Given the description of an element on the screen output the (x, y) to click on. 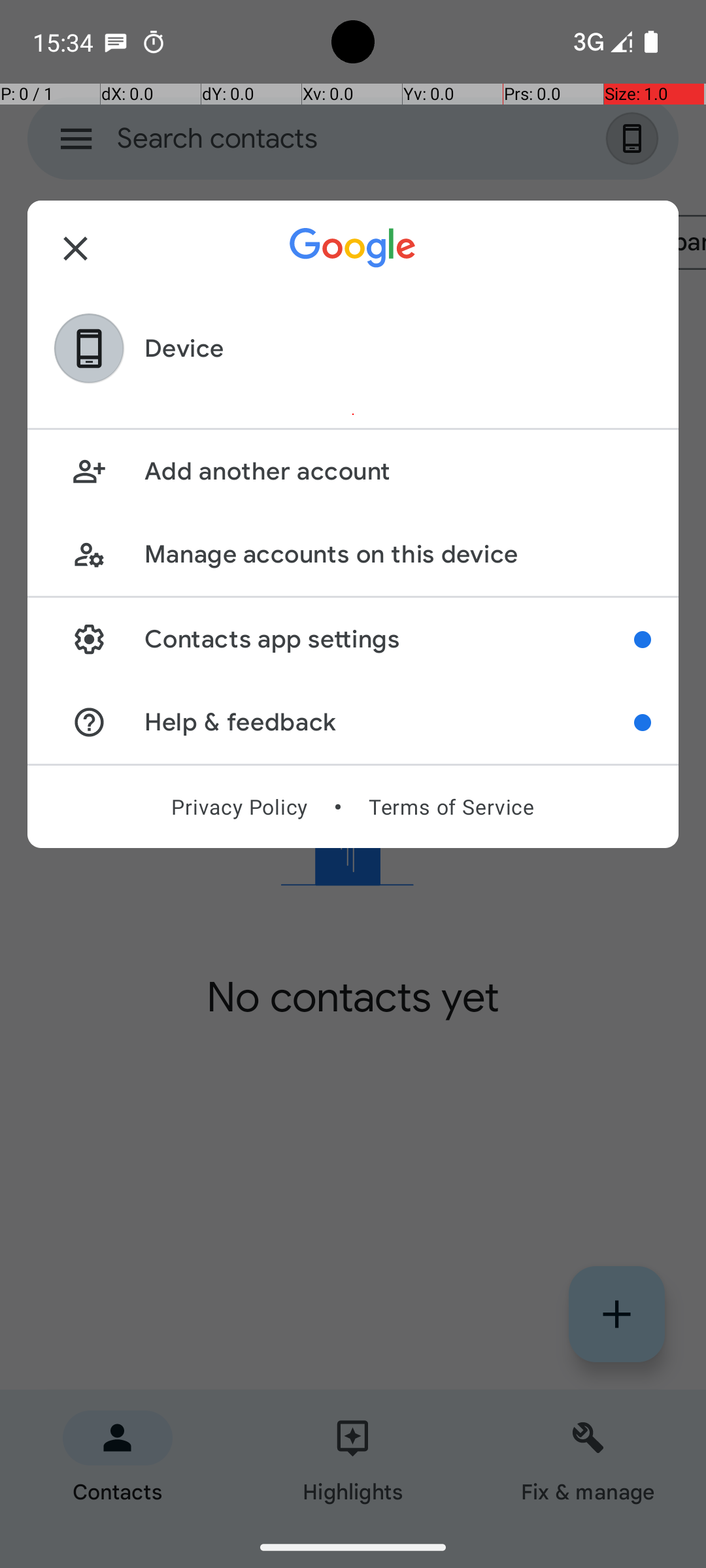
Add another account Element type: android.widget.TextView (397, 471)
Manage accounts on this device Element type: android.widget.TextView (397, 554)
Contacts app settings Element type: android.widget.TextView (389, 638)
